Given the description of an element on the screen output the (x, y) to click on. 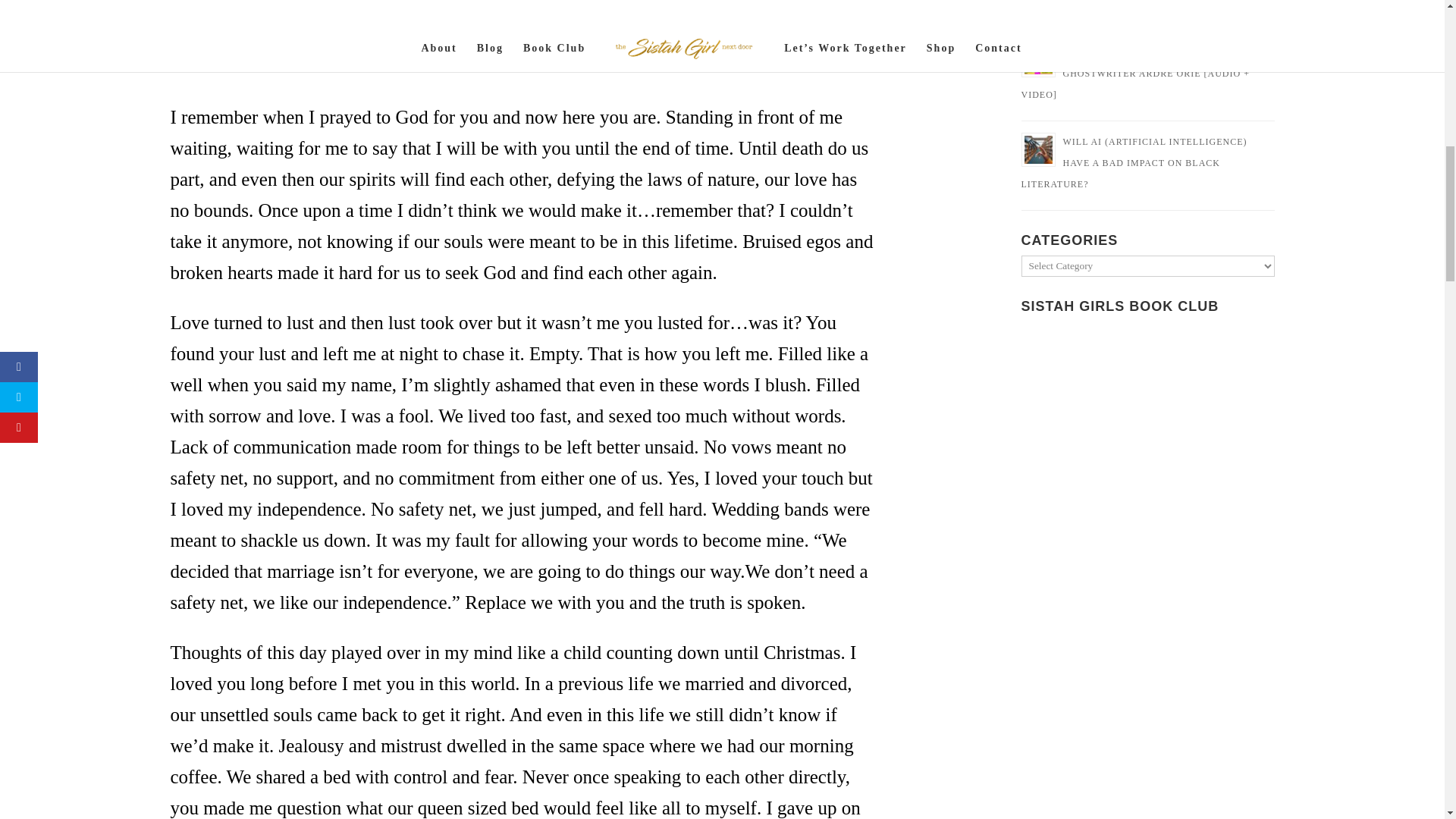
10 MEMOIRS WRITTEN BY BLACK MUSICIANS (1145, 5)
